Given the description of an element on the screen output the (x, y) to click on. 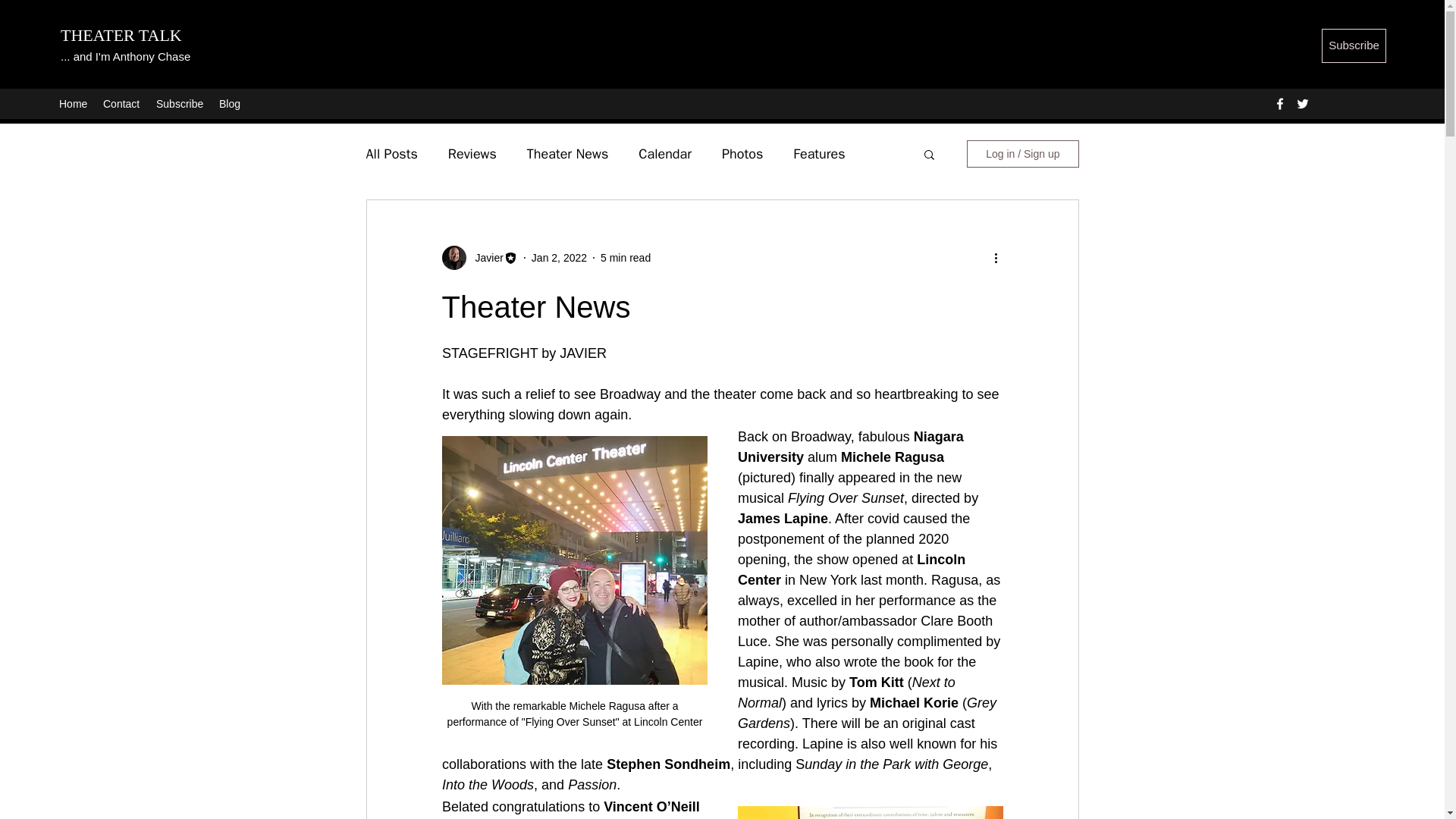
Home (73, 103)
THEATER TALK (121, 35)
... and I'm Anthony Chase (125, 56)
Blog (229, 103)
All Posts (390, 153)
Jan 2, 2022 (558, 257)
Subscribe (179, 103)
Contact (122, 103)
Subscribe (1354, 45)
5 min read (624, 257)
